Given the description of an element on the screen output the (x, y) to click on. 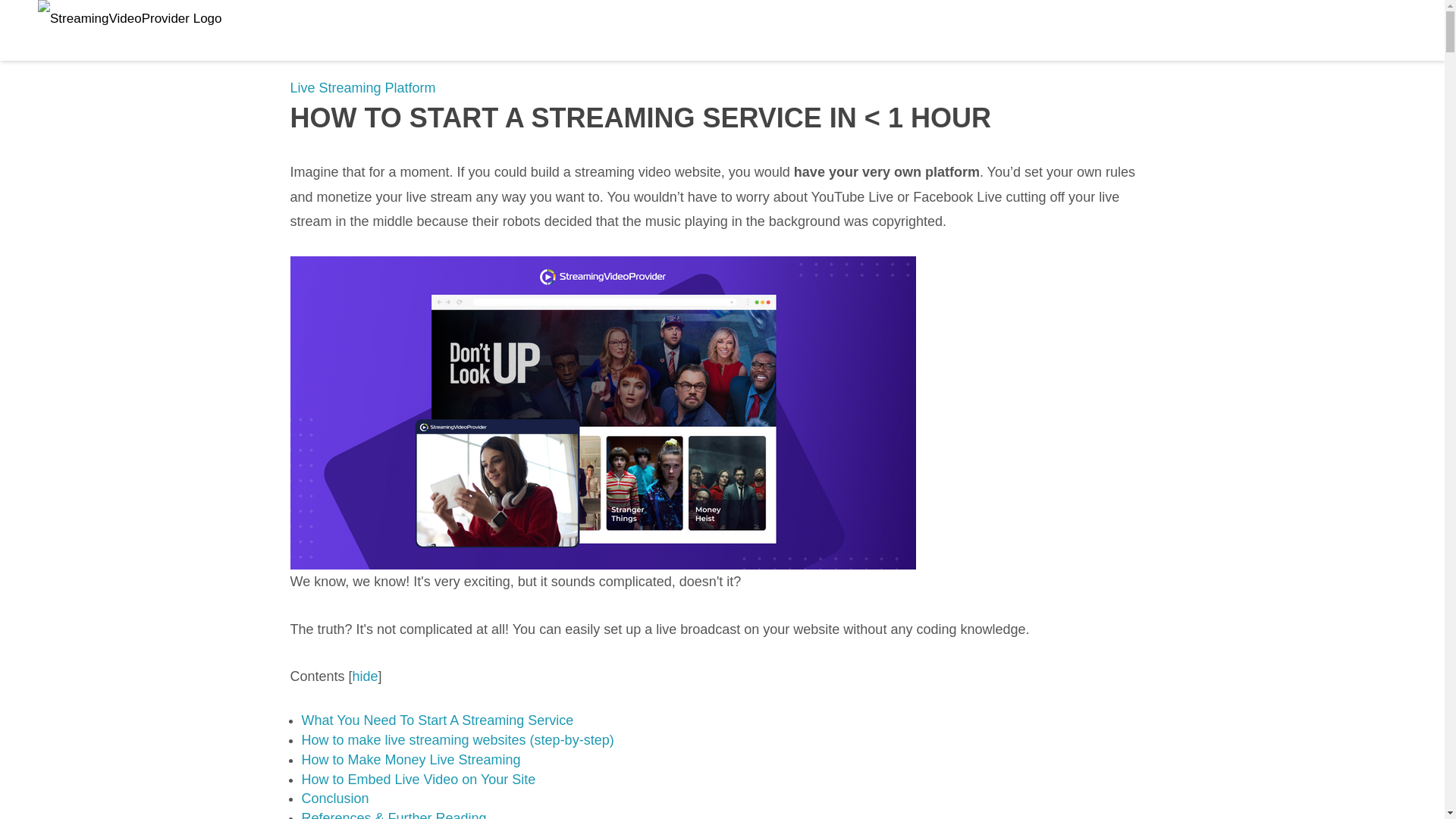
StreamingVideoProvider (176, 18)
Live Streaming Platform (86, 17)
